Given the description of an element on the screen output the (x, y) to click on. 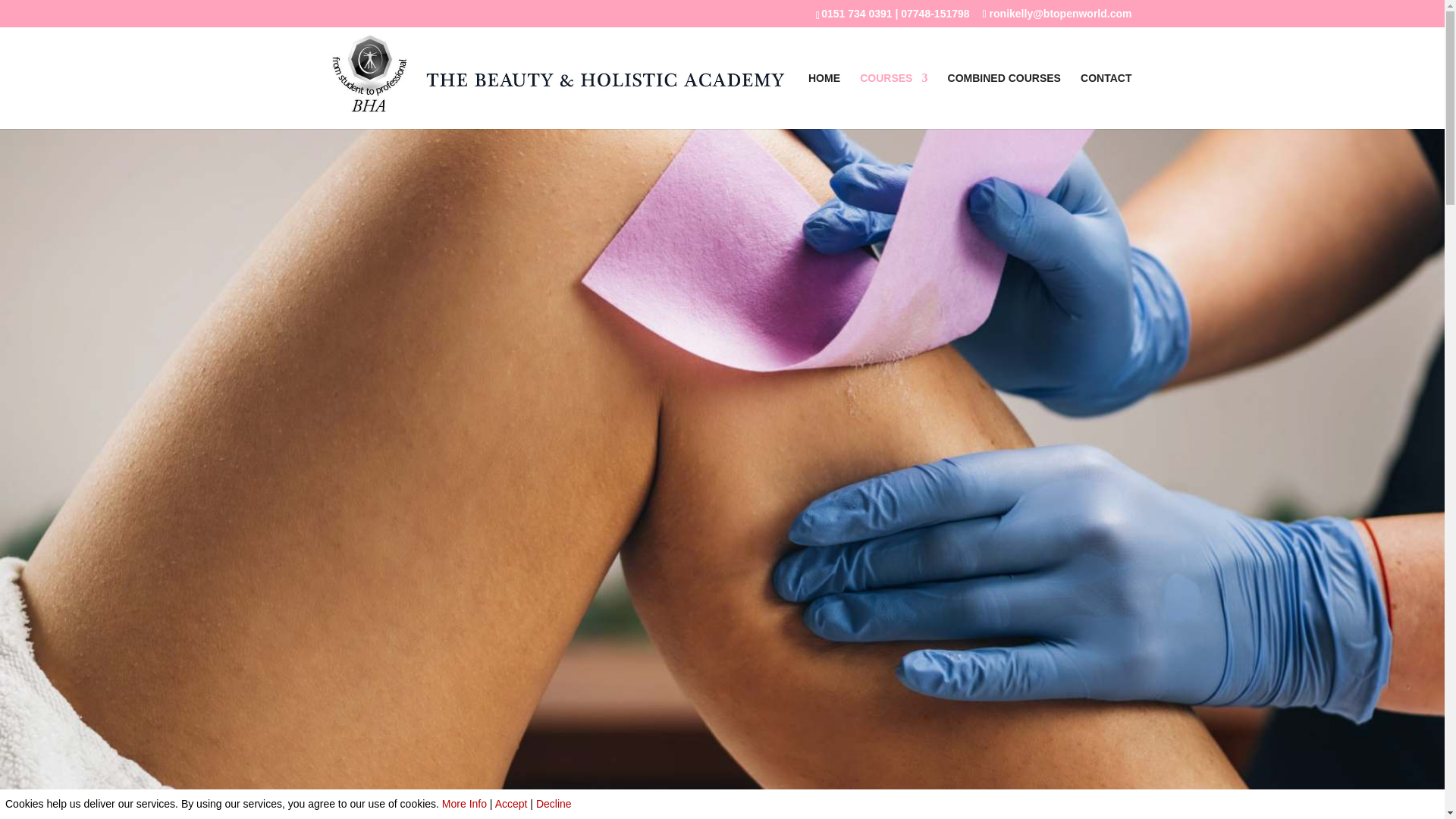
07748-151798 (935, 13)
Accept (511, 803)
COMBINED COURSES (1004, 100)
0151 734 0391 (856, 13)
COURSES (893, 100)
Decline (553, 803)
CONTACT (1105, 100)
More Info (464, 803)
